Given the description of an element on the screen output the (x, y) to click on. 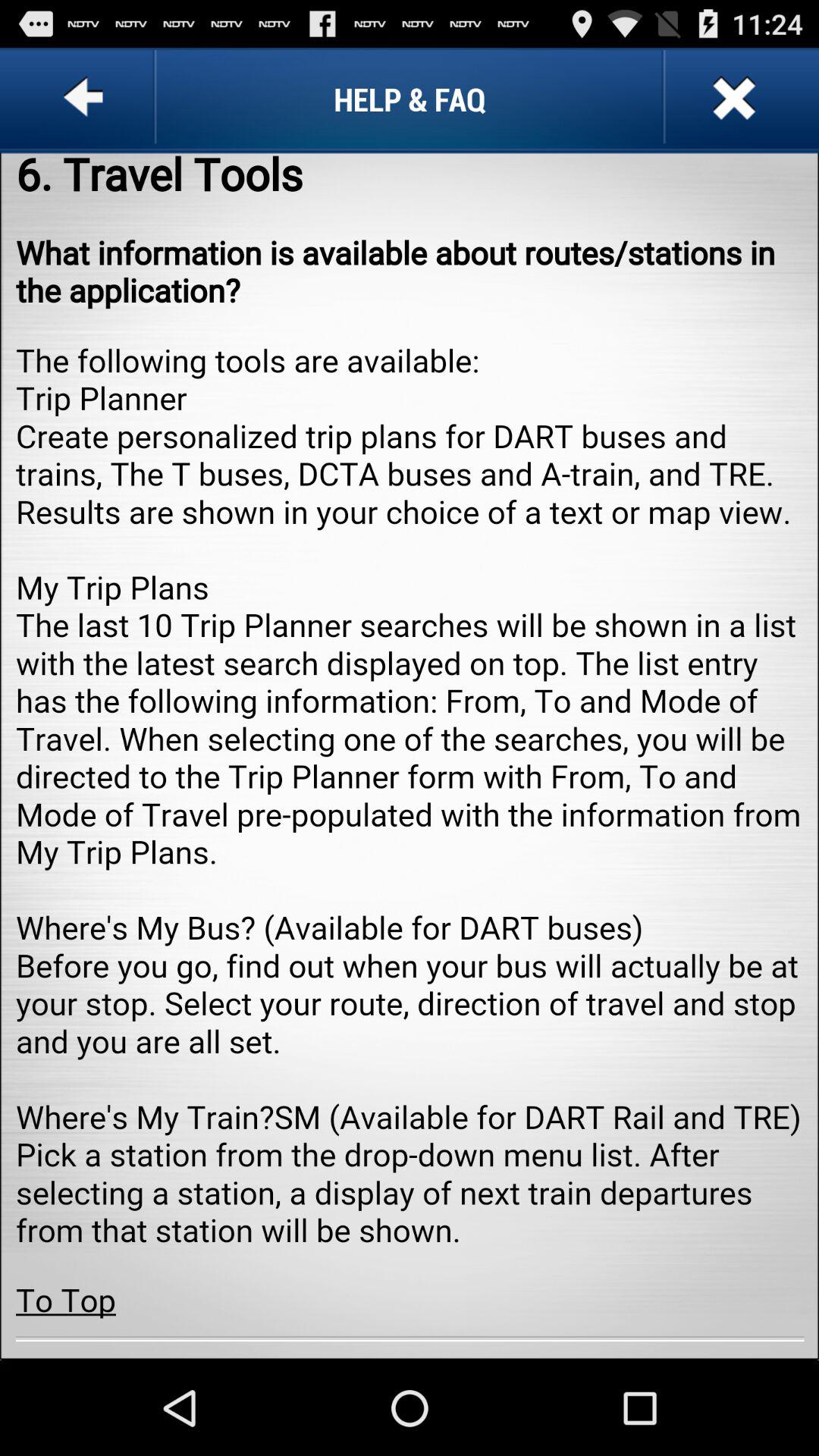
go back (86, 99)
